Given the description of an element on the screen output the (x, y) to click on. 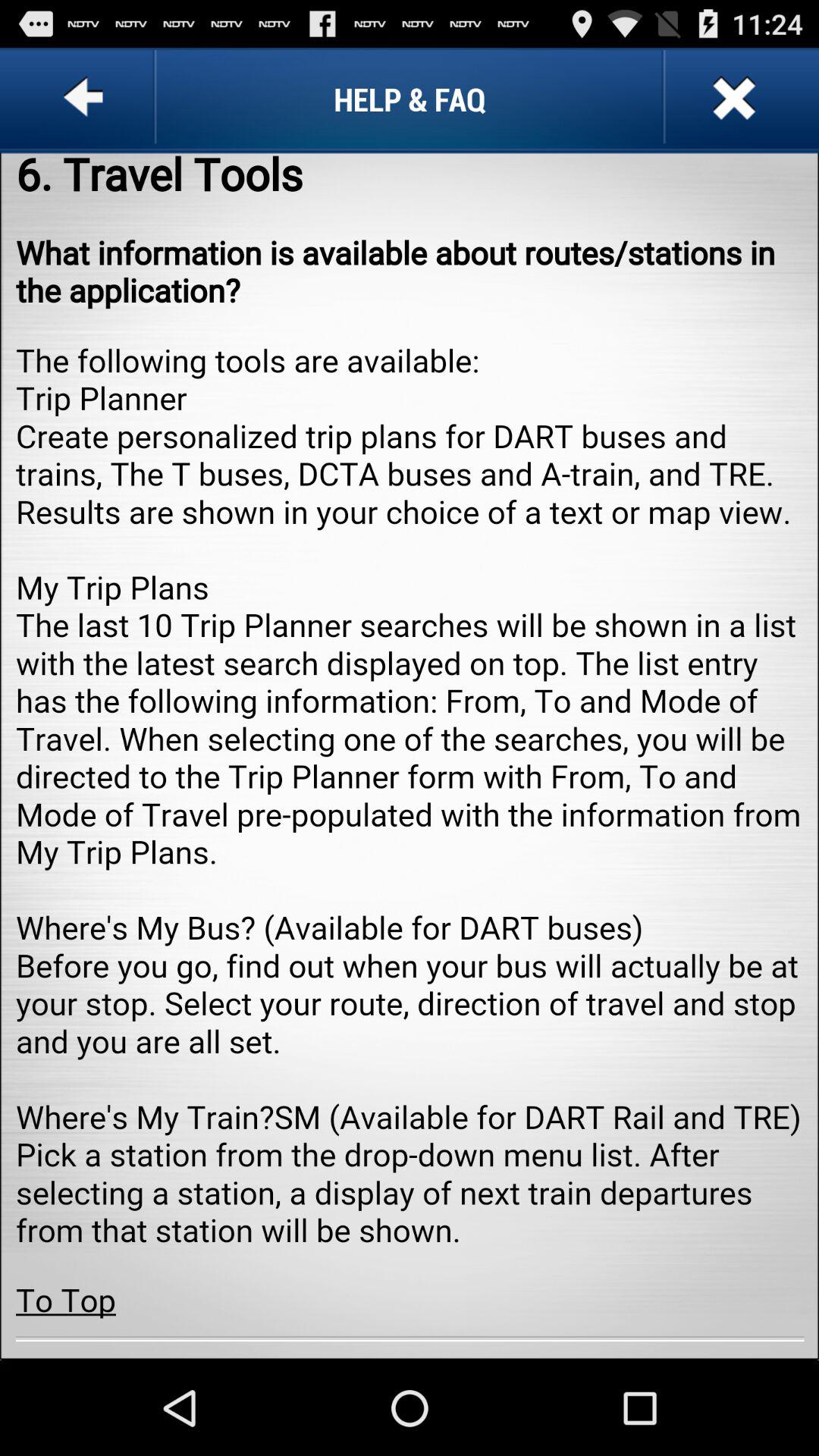
go back (86, 99)
